Given the description of an element on the screen output the (x, y) to click on. 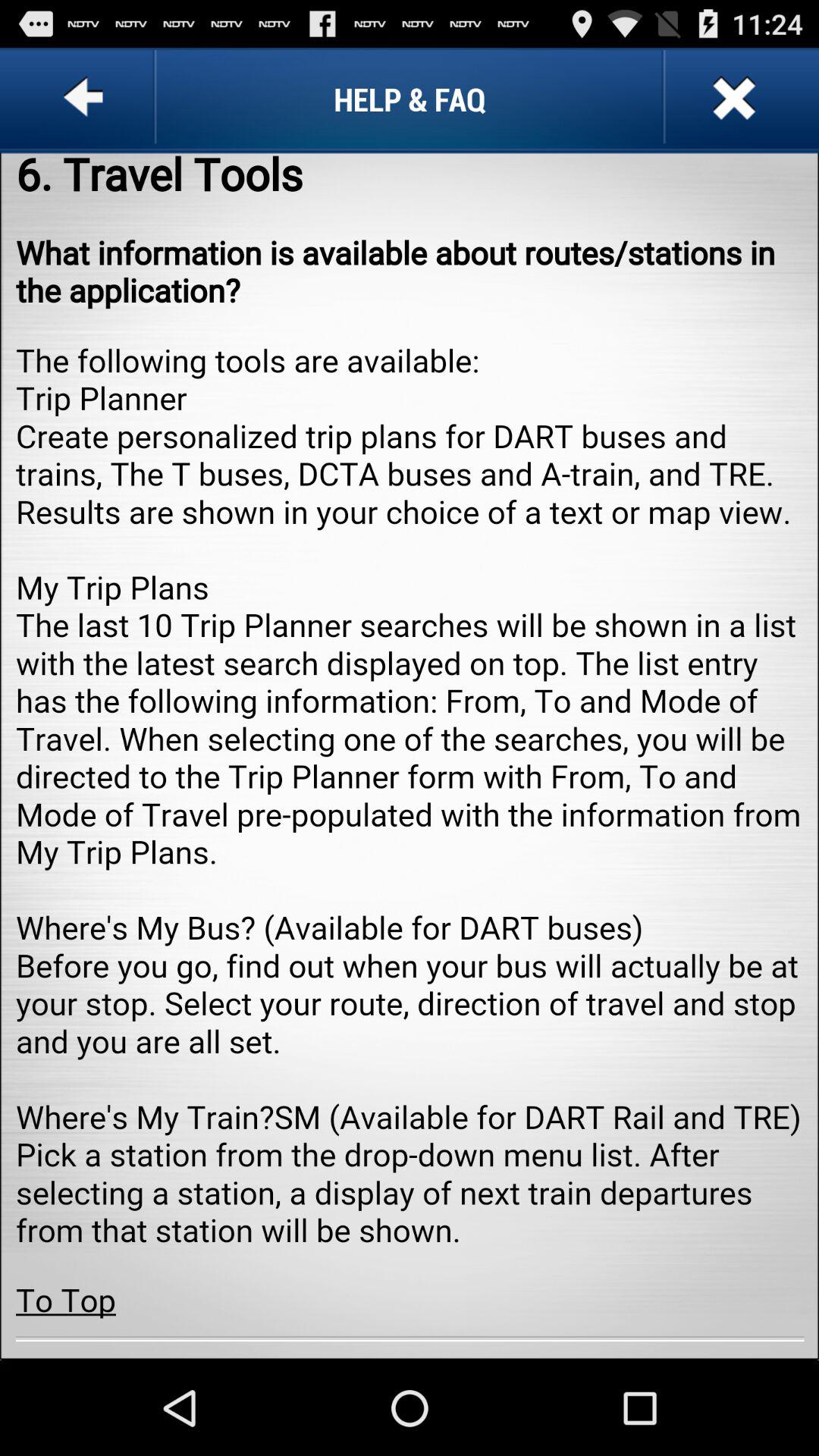
go back (86, 99)
